Given the description of an element on the screen output the (x, y) to click on. 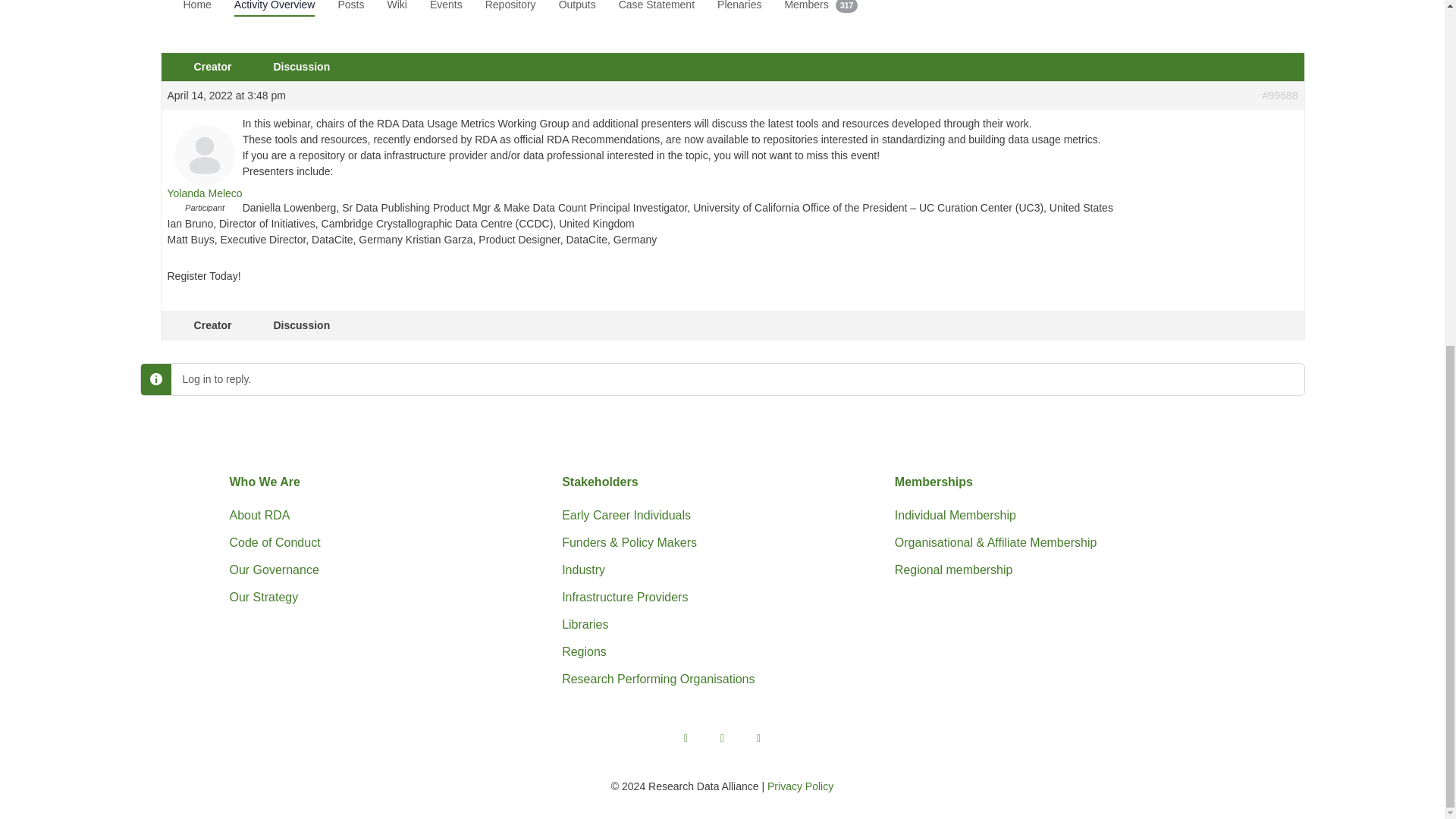
View Yolanda Meleco's profile (204, 171)
